Given the description of an element on the screen output the (x, y) to click on. 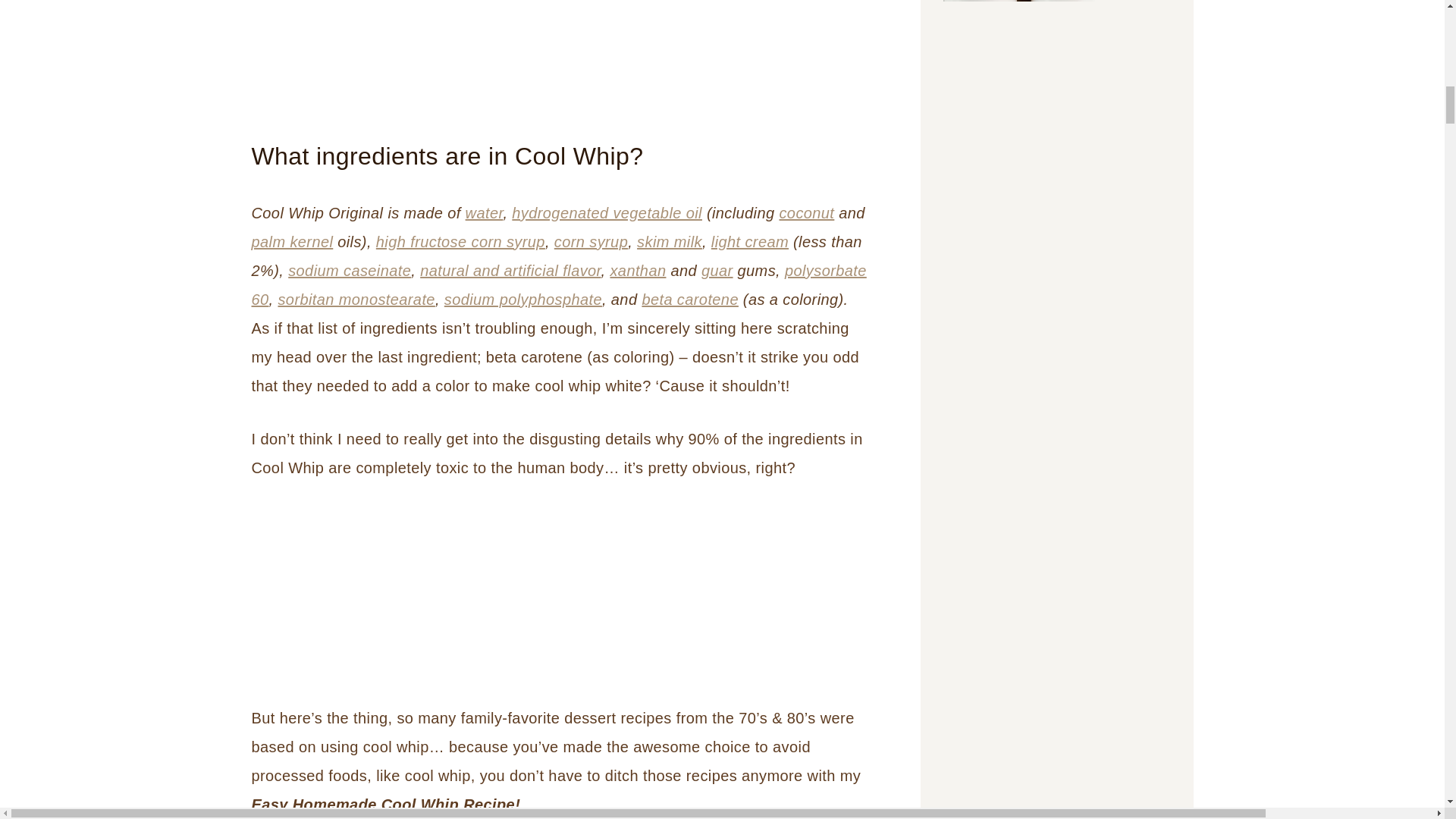
High fructose corn syrup (459, 241)
Xanthan gum (637, 270)
Sodium polyphosphate (523, 299)
Water (484, 212)
Corn syrup (590, 241)
Sorbitan monostearate (355, 299)
Skim milk (669, 241)
Palm oil (292, 241)
Cream (750, 241)
Flavor (509, 270)
Polysorbate 60 (558, 284)
Guar gum (717, 270)
Coconut oil (806, 212)
Sodium caseinate (349, 270)
Hydrogenated vegetable oil (606, 212)
